Given the description of an element on the screen output the (x, y) to click on. 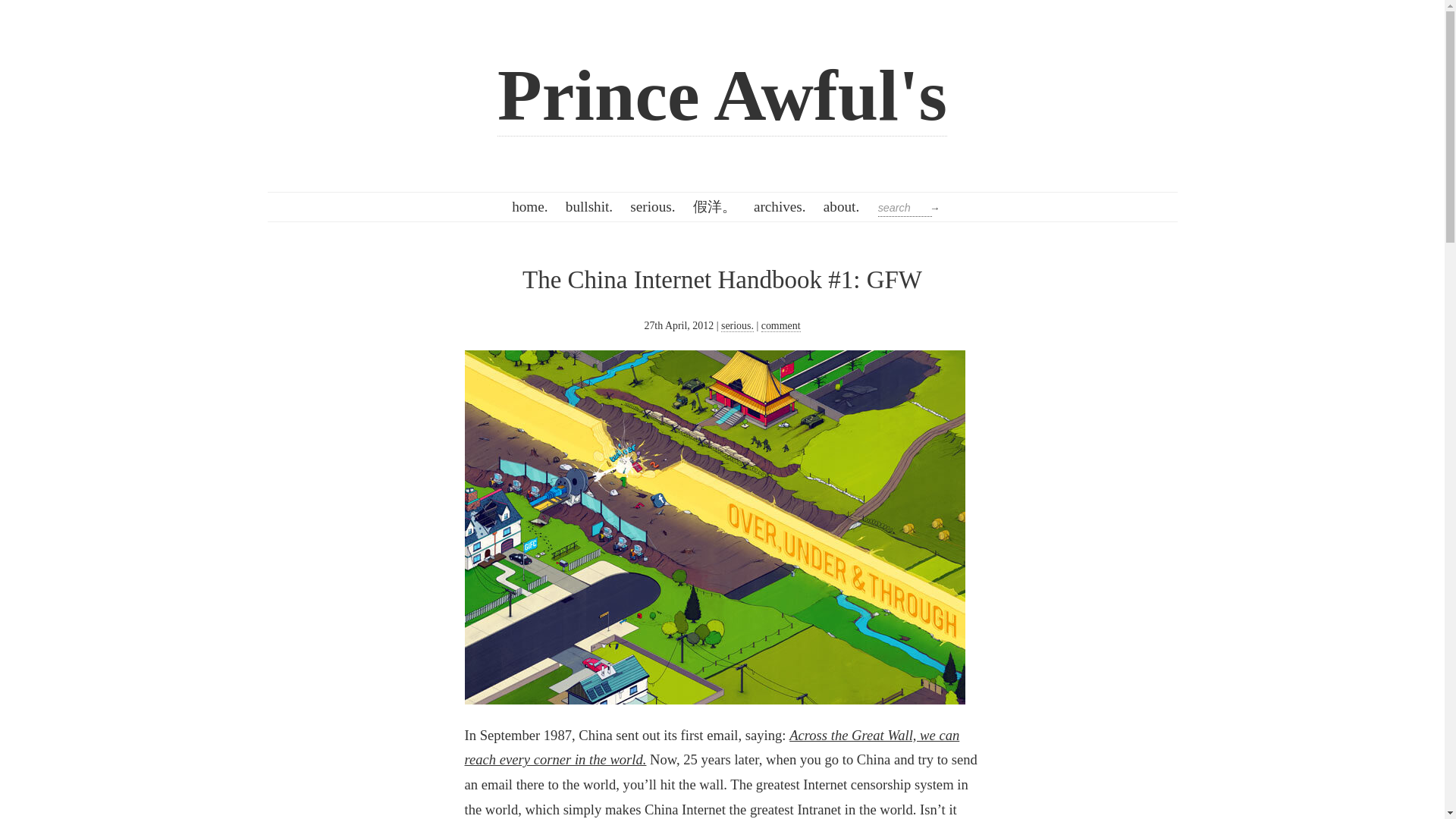
serious. (652, 206)
about. (840, 206)
serious. (737, 326)
archives. (778, 206)
search (904, 208)
Prince Awful's (722, 95)
home. (530, 206)
comment (780, 326)
enter keyword (904, 208)
bullshit. (588, 206)
PRINCE AWFUL's (722, 95)
